Given the description of an element on the screen output the (x, y) to click on. 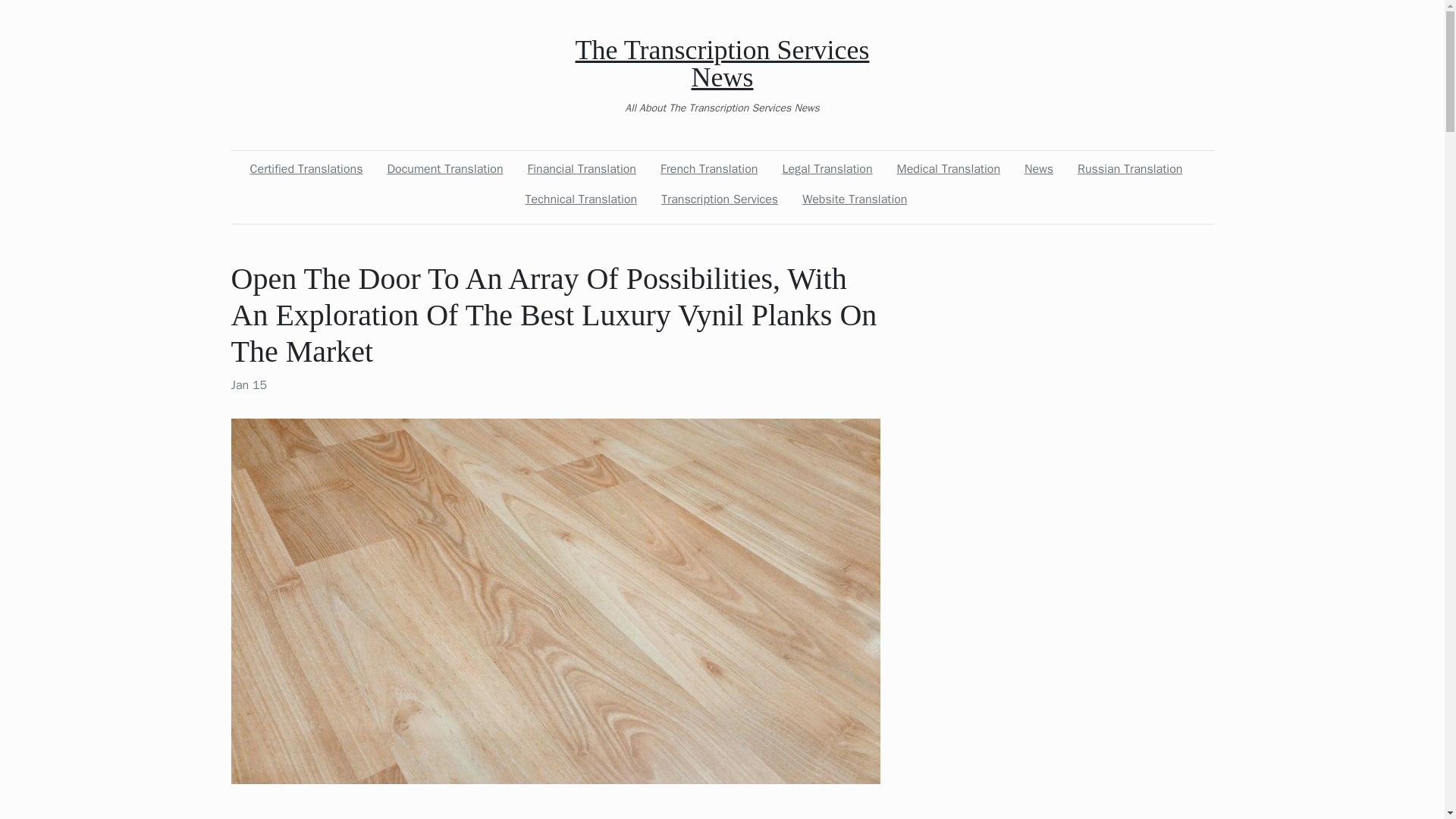
French Translation (707, 168)
Financial Translation (581, 168)
Certified Translations (306, 168)
Website Translation (854, 199)
Transcription Services (719, 199)
News (1038, 168)
Document Translation (444, 168)
Technical Translation (581, 199)
Russian Translation (1129, 168)
